Given the description of an element on the screen output the (x, y) to click on. 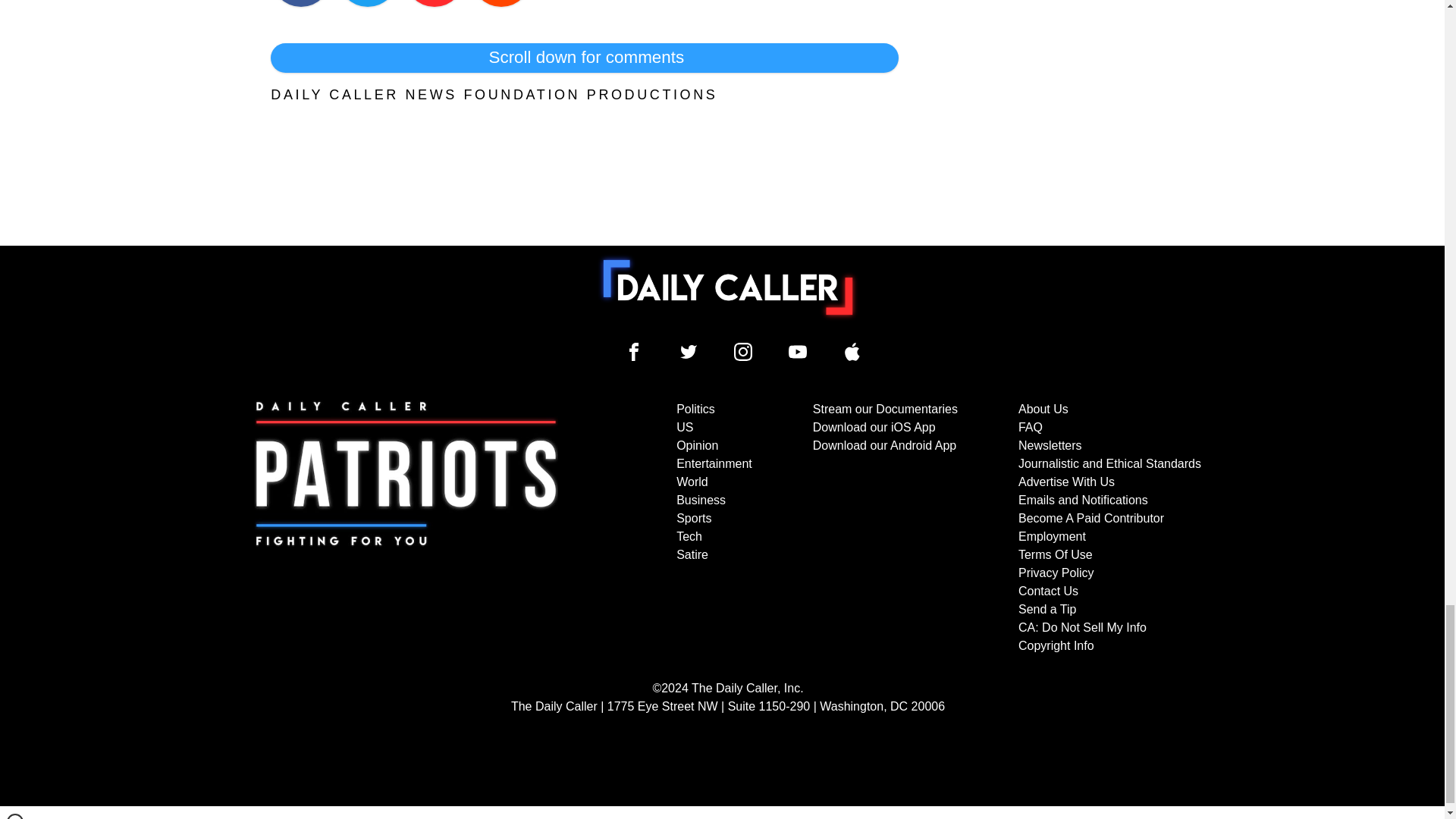
Daily Caller Facebook (633, 352)
Daily Caller Instagram (742, 352)
Daily Caller YouTube (797, 352)
Daily Caller Twitter (688, 352)
To home page (727, 286)
Daily Caller YouTube (852, 352)
Subscribe to The Daily Caller (405, 527)
Scroll down for comments (584, 57)
